Given the description of an element on the screen output the (x, y) to click on. 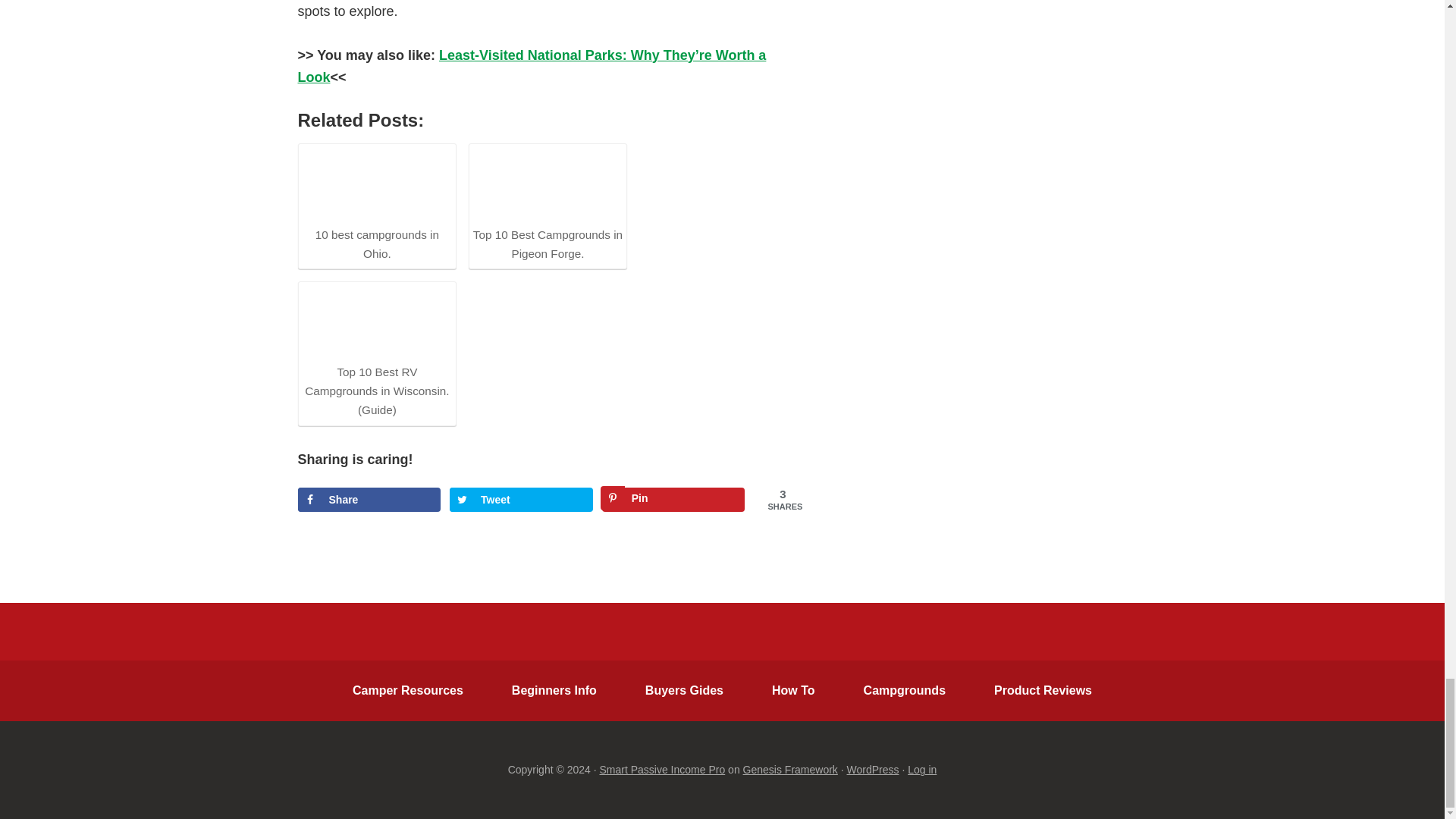
Share (369, 499)
10 best campgrounds in Ohio. (375, 184)
Top 10 Best Campgrounds in Pigeon Forge. (547, 204)
Tweet (520, 499)
Pin (673, 499)
10 best campgrounds in Ohio. (375, 204)
